Given the description of an element on the screen output the (x, y) to click on. 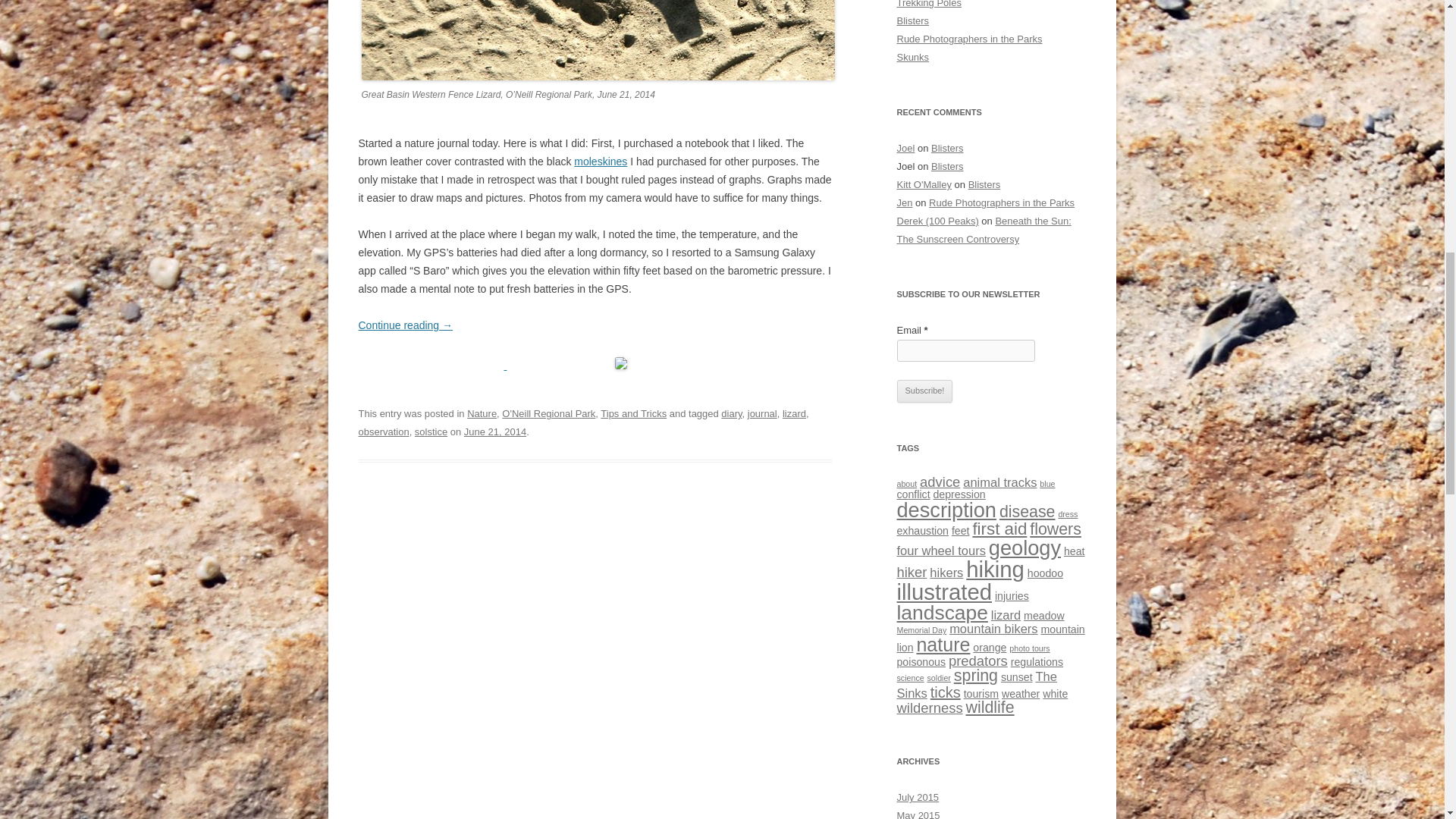
Rude Photographers in the Parks (969, 39)
O'Neill Regional Park (548, 413)
solstice (430, 431)
June 21, 2014 (494, 431)
Western Fence Lizard by Joel Sax, on Flickr (597, 76)
observation (383, 431)
Blisters (912, 20)
Trekking Poles (928, 4)
Subscribe! (924, 391)
Share on Tumblr (762, 363)
lizard (794, 413)
journal (762, 413)
Share on Tumblr (762, 363)
23:21 (494, 431)
diary (730, 413)
